Given the description of an element on the screen output the (x, y) to click on. 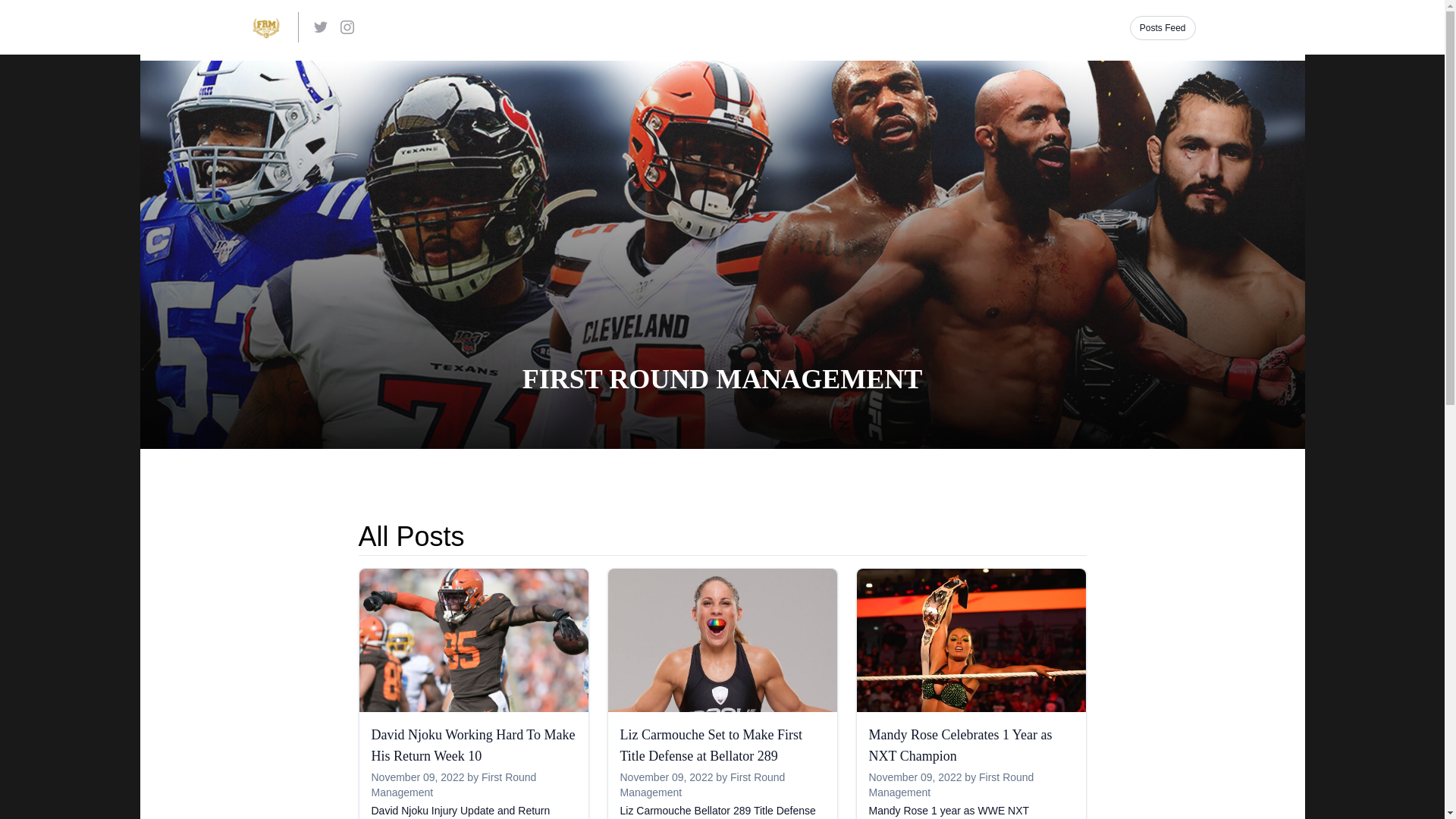
Posts Feed Element type: text (1162, 27)
